Given the description of an element on the screen output the (x, y) to click on. 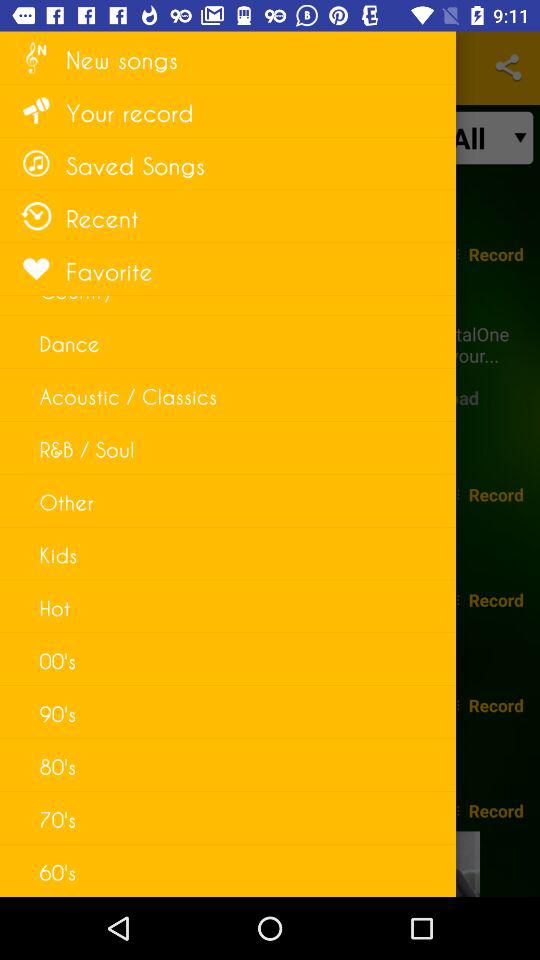
improper bounding box (72, 569)
select second record in the hidden image (496, 494)
select the fourth record in the hidden  image (496, 705)
